Given the description of an element on the screen output the (x, y) to click on. 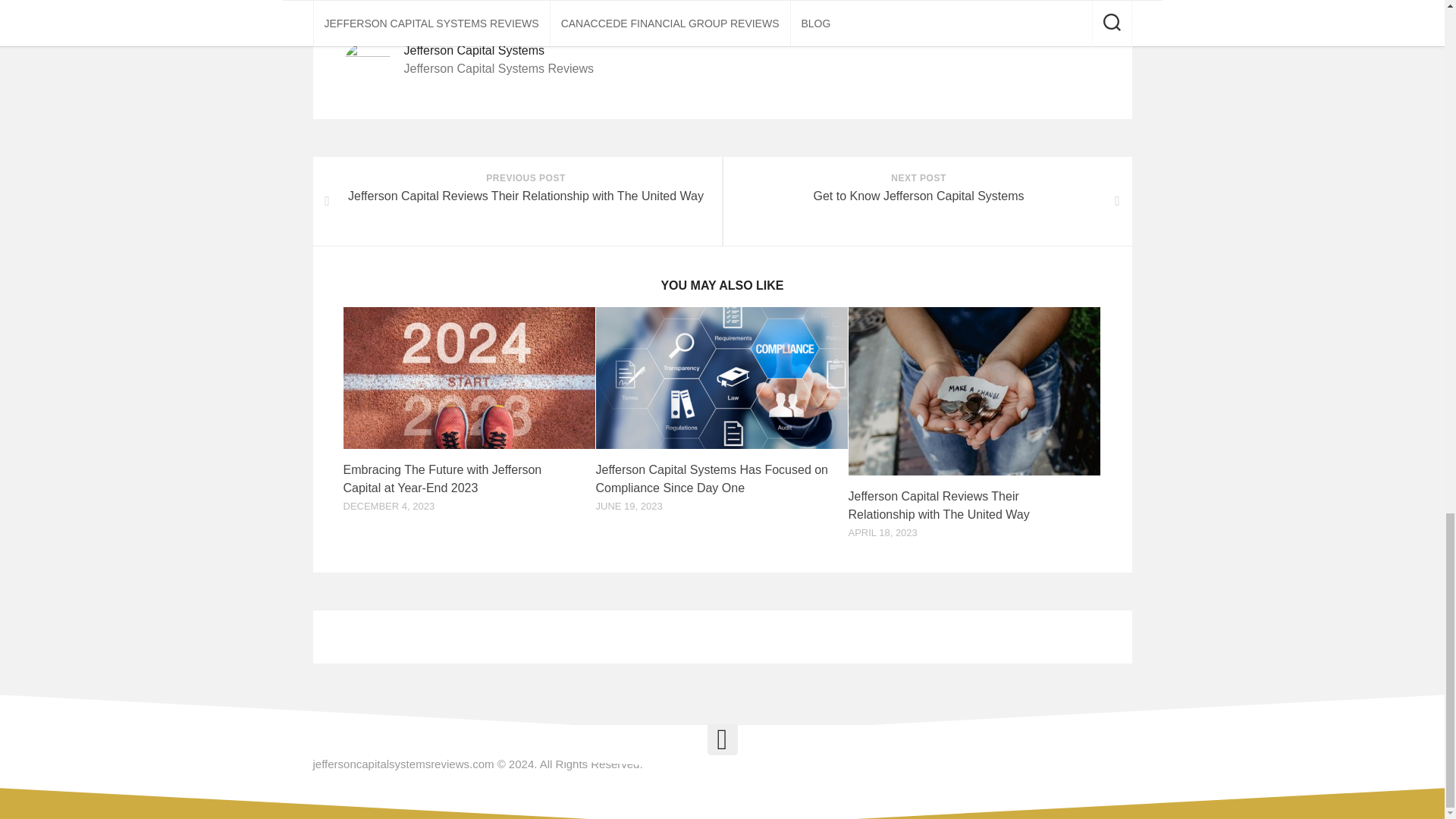
Embracing The Future with Jefferson Capital at Year-End 2023 (441, 478)
